Given the description of an element on the screen output the (x, y) to click on. 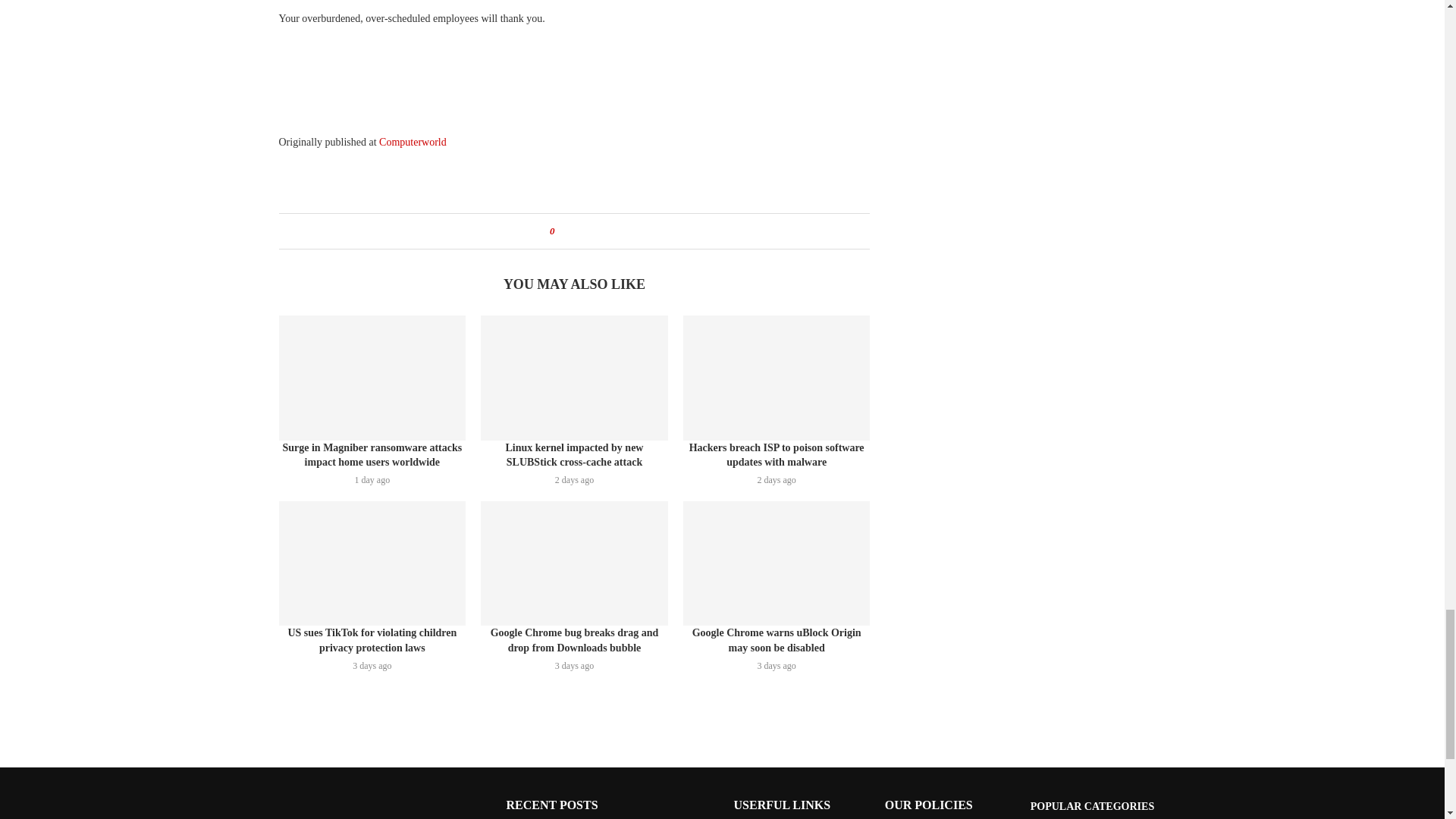
Google Chrome bug breaks drag and drop from Downloads bubble (574, 563)
Hackers breach ISP to poison software updates with malware (776, 377)
Google Chrome warns uBlock Origin may soon be disabled (776, 563)
Linux kernel impacted by new SLUBStick cross-cache attack (574, 377)
